Given the description of an element on the screen output the (x, y) to click on. 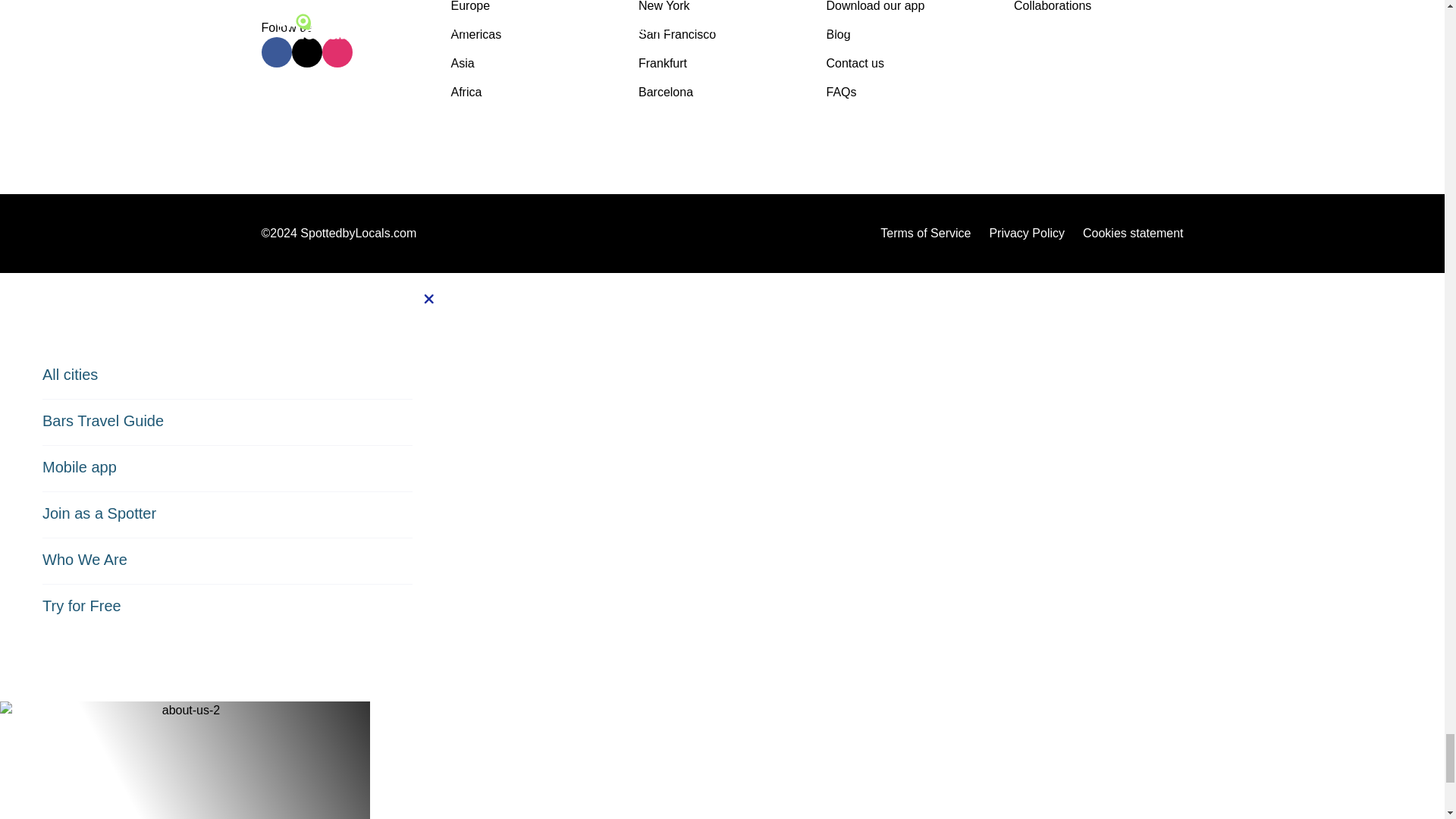
about-us-2 (184, 775)
